Given the description of an element on the screen output the (x, y) to click on. 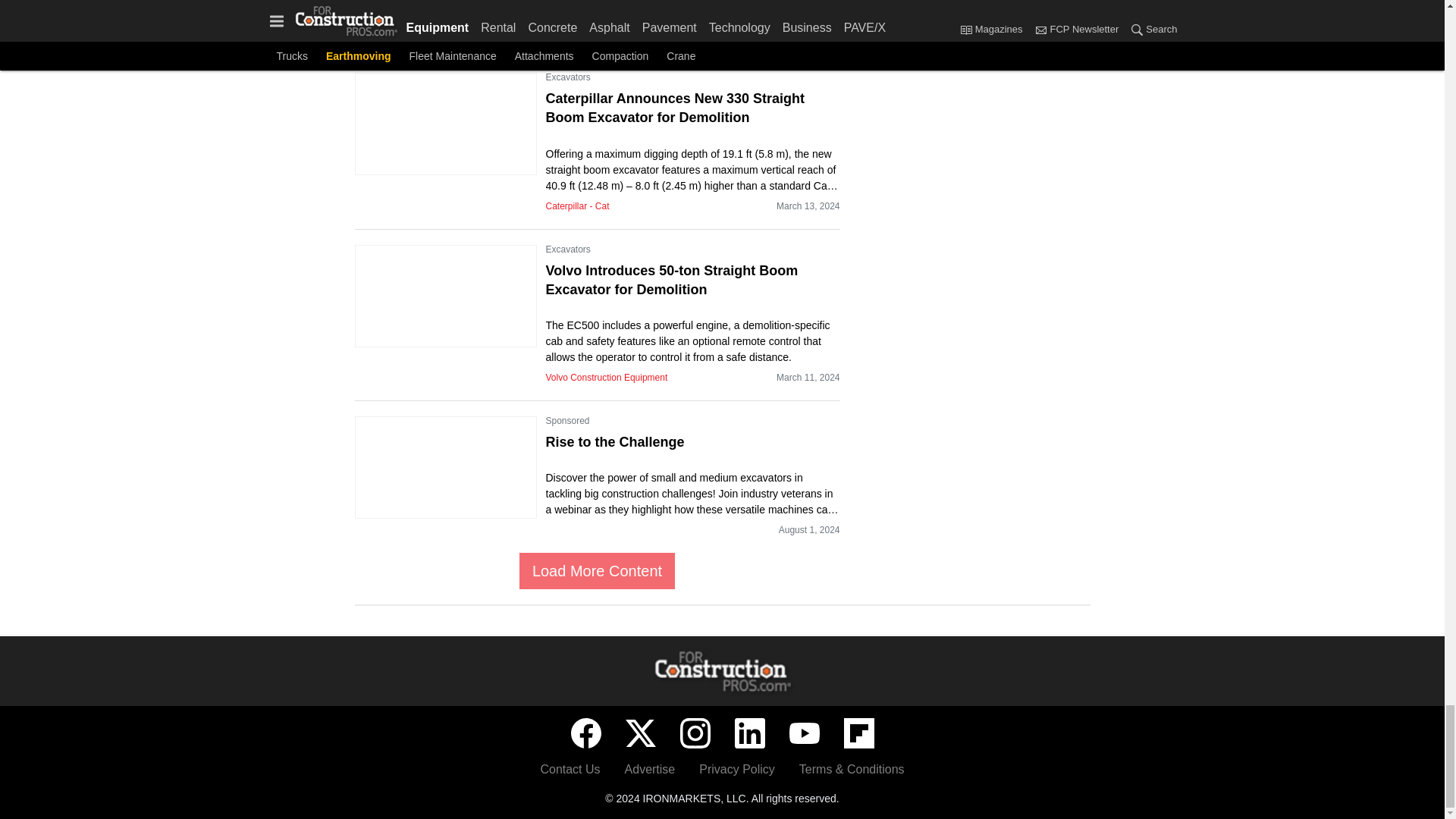
Twitter X icon (639, 733)
Facebook icon (584, 733)
Flipboard icon (858, 733)
YouTube icon (803, 733)
LinkedIn icon (748, 733)
Instagram icon (694, 733)
